Given the description of an element on the screen output the (x, y) to click on. 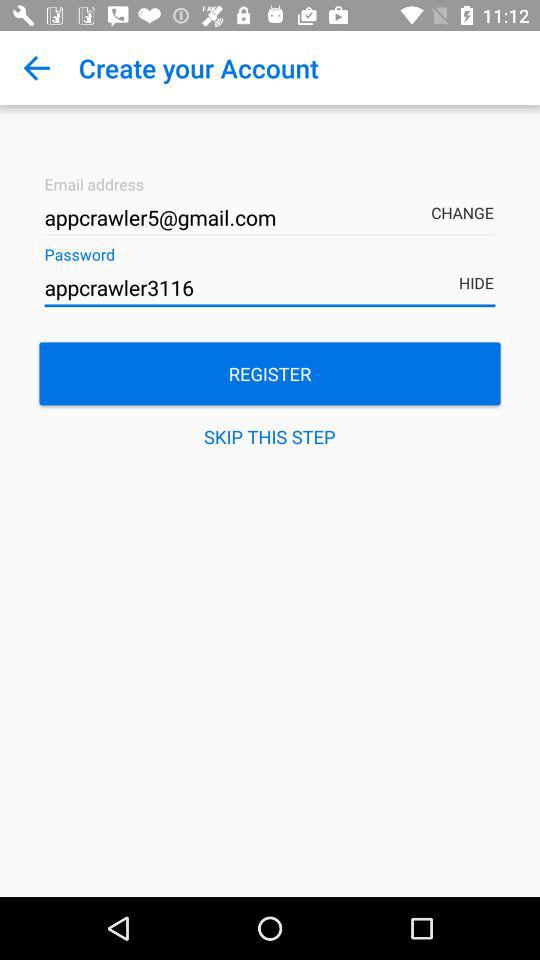
open the icon at the top left corner (36, 68)
